Given the description of an element on the screen output the (x, y) to click on. 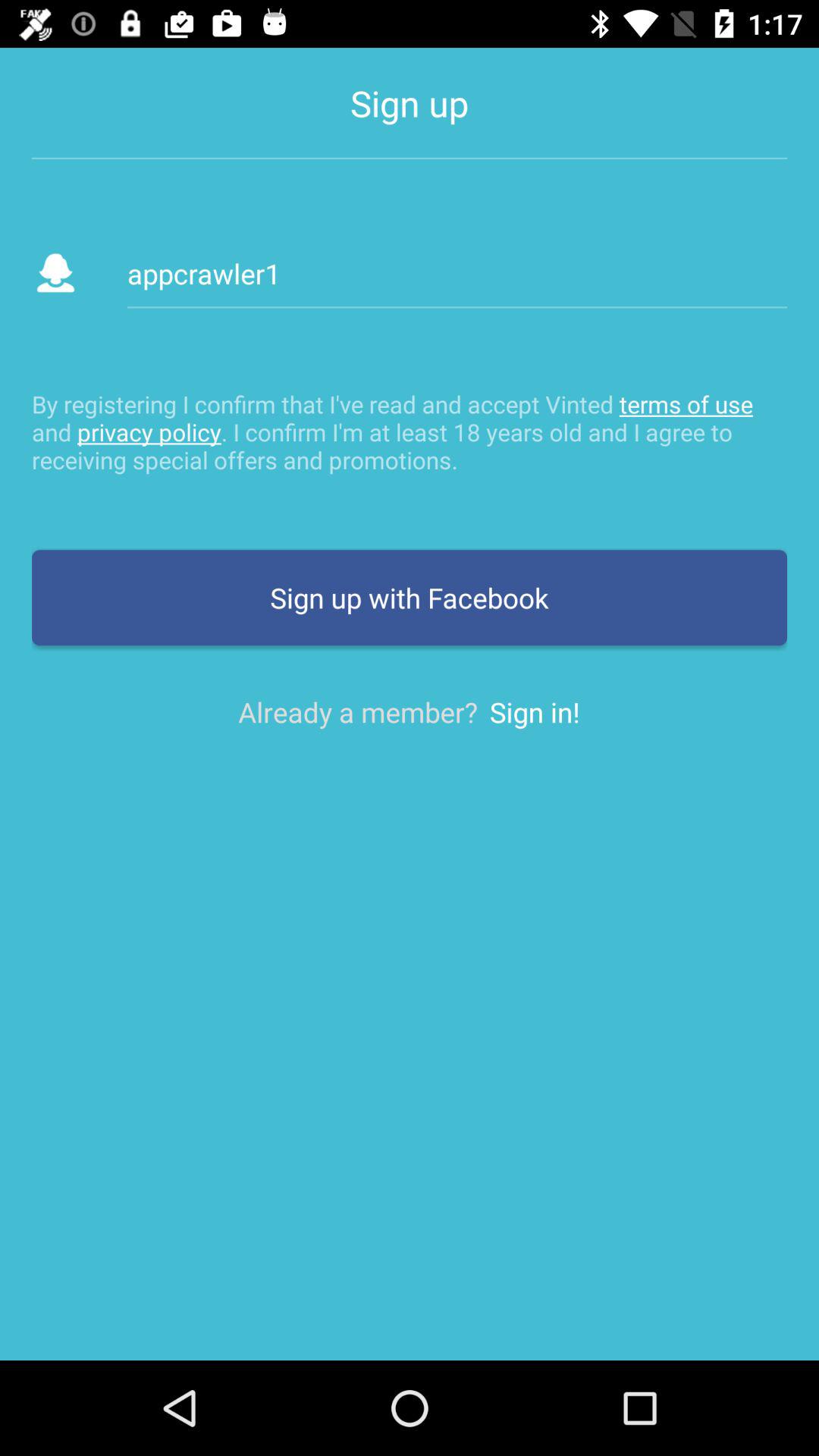
open item above the sign up with (409, 431)
